Given the description of an element on the screen output the (x, y) to click on. 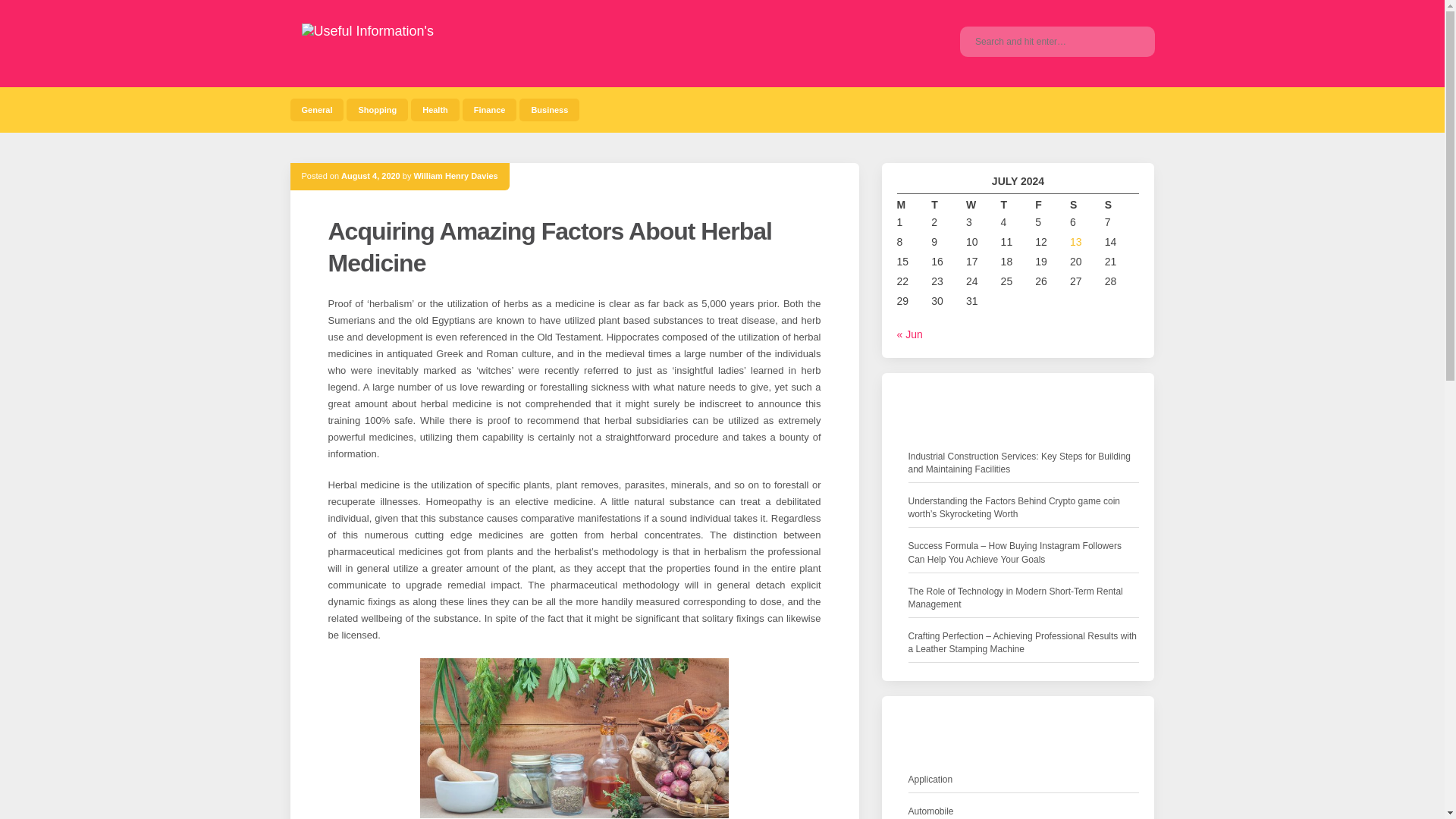
Application (930, 779)
Health (435, 109)
Health (435, 109)
Search (1131, 41)
Shopping (376, 109)
Search (1131, 41)
Business (549, 109)
William Henry Davies (455, 175)
General (316, 109)
Friday (1052, 205)
Automobile (930, 811)
Business (549, 109)
Finance (489, 109)
Shopping (376, 109)
